Given the description of an element on the screen output the (x, y) to click on. 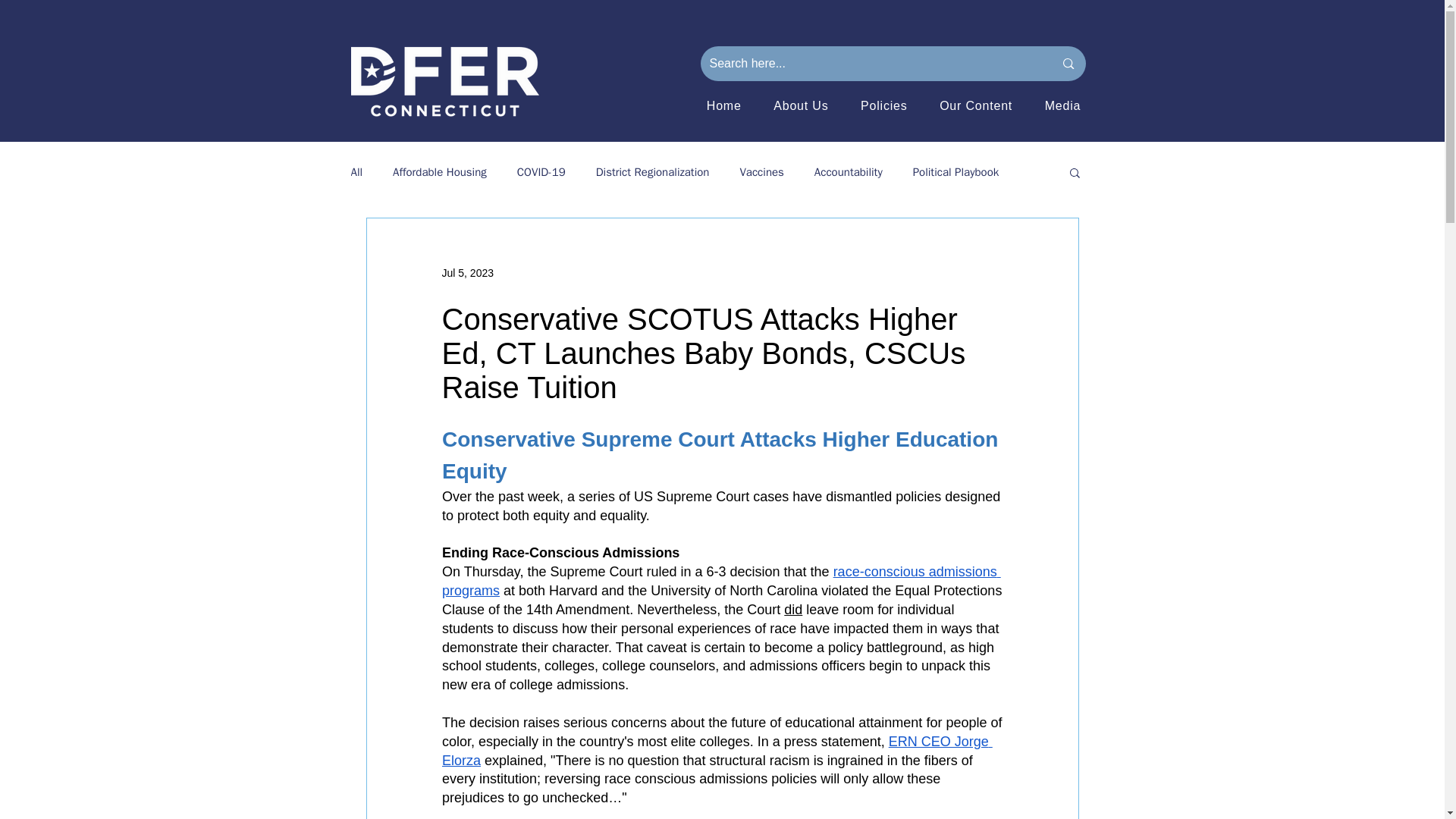
COVID-19 (541, 172)
Vaccines (761, 172)
Home (723, 105)
Jul 5, 2023 (467, 272)
Political Playbook (955, 172)
Affordable Housing (439, 172)
Policies (883, 105)
ERN CEO Jorge Elorza (716, 750)
race-conscious admissions programs (720, 581)
Accountability (847, 172)
